Given the description of an element on the screen output the (x, y) to click on. 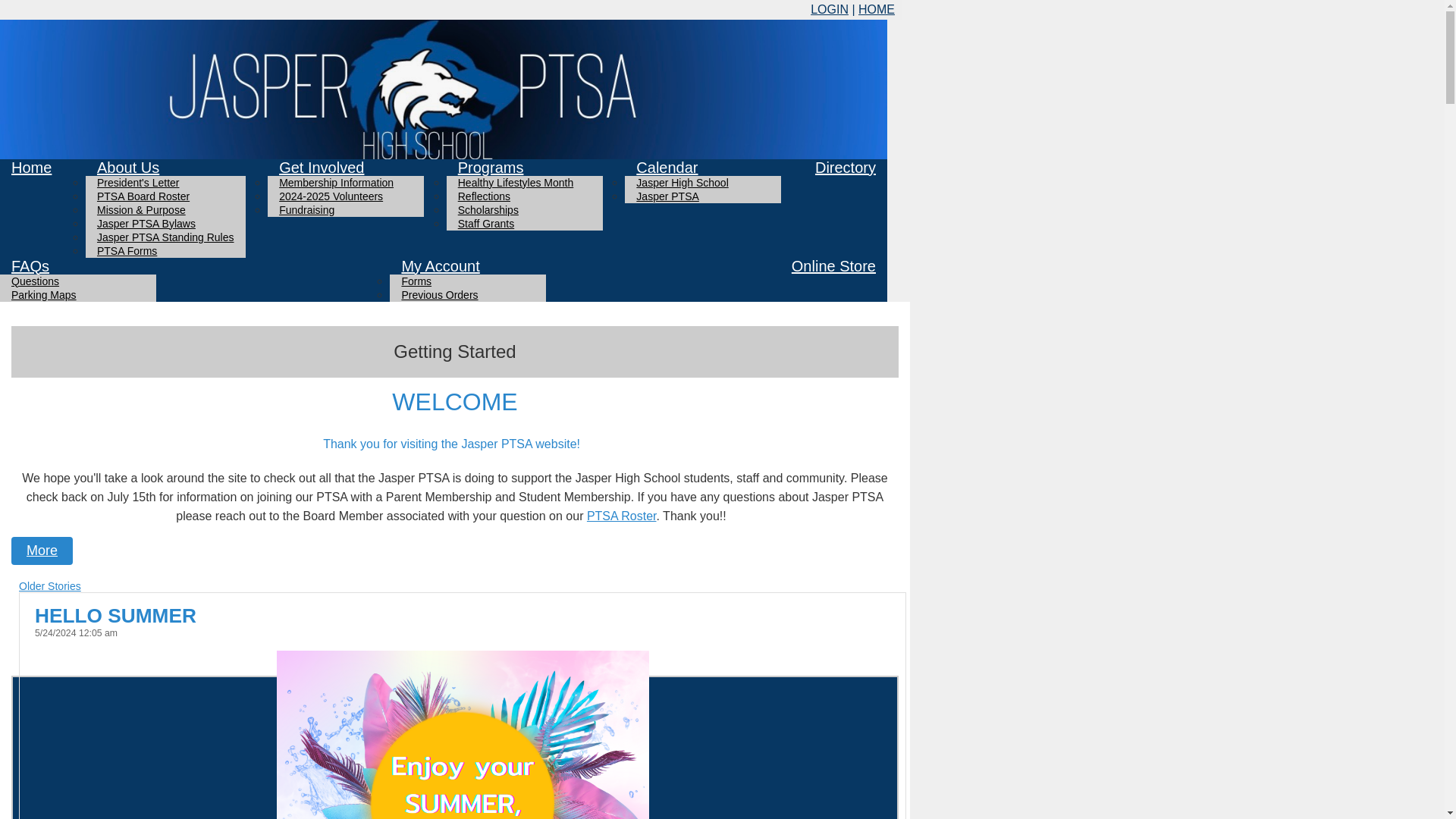
PTSA Roster (621, 515)
Scholarships (487, 209)
About Us (127, 167)
Reflections (483, 195)
Jasper PTSA Bylaws (145, 223)
Parking Maps (43, 294)
PTSA Board Roster (142, 195)
Get Involved (321, 167)
Jasper PTSA Standing Rules (165, 236)
More (41, 551)
Questions (34, 280)
Jasper High School (681, 182)
LOGIN (829, 9)
Healthy Lifestyles Month (515, 182)
2024-2025 Volunteers (330, 195)
